Given the description of an element on the screen output the (x, y) to click on. 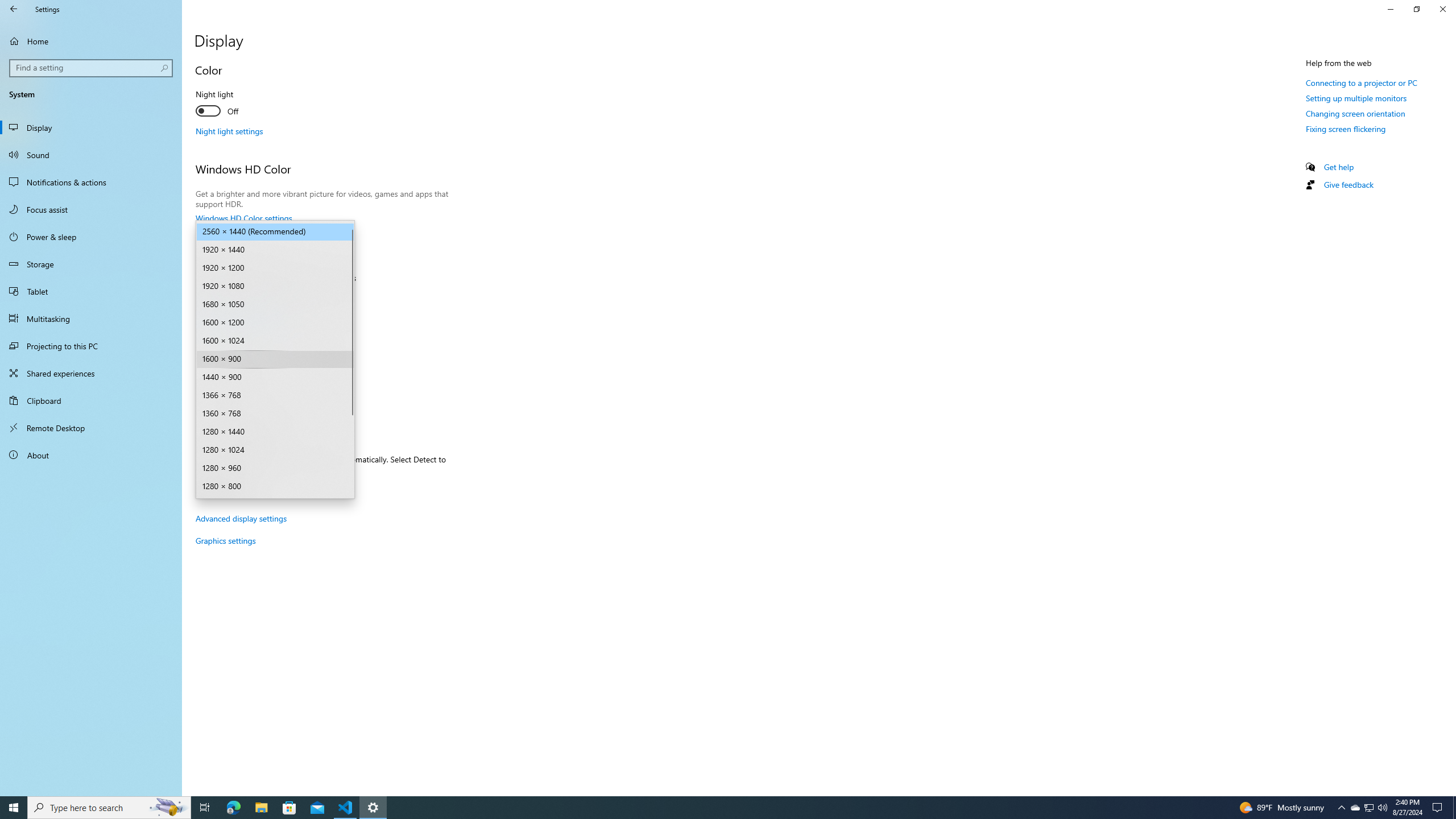
Setting up multiple monitors (1356, 97)
Change the size of text, apps, and other items (275, 296)
Fixing screen flickering (1346, 128)
Focus assist (91, 208)
Storage (91, 263)
Power & sleep (91, 236)
Graphics settings (225, 540)
Advanced scaling settings (240, 317)
Get help (1338, 166)
